Given the description of an element on the screen output the (x, y) to click on. 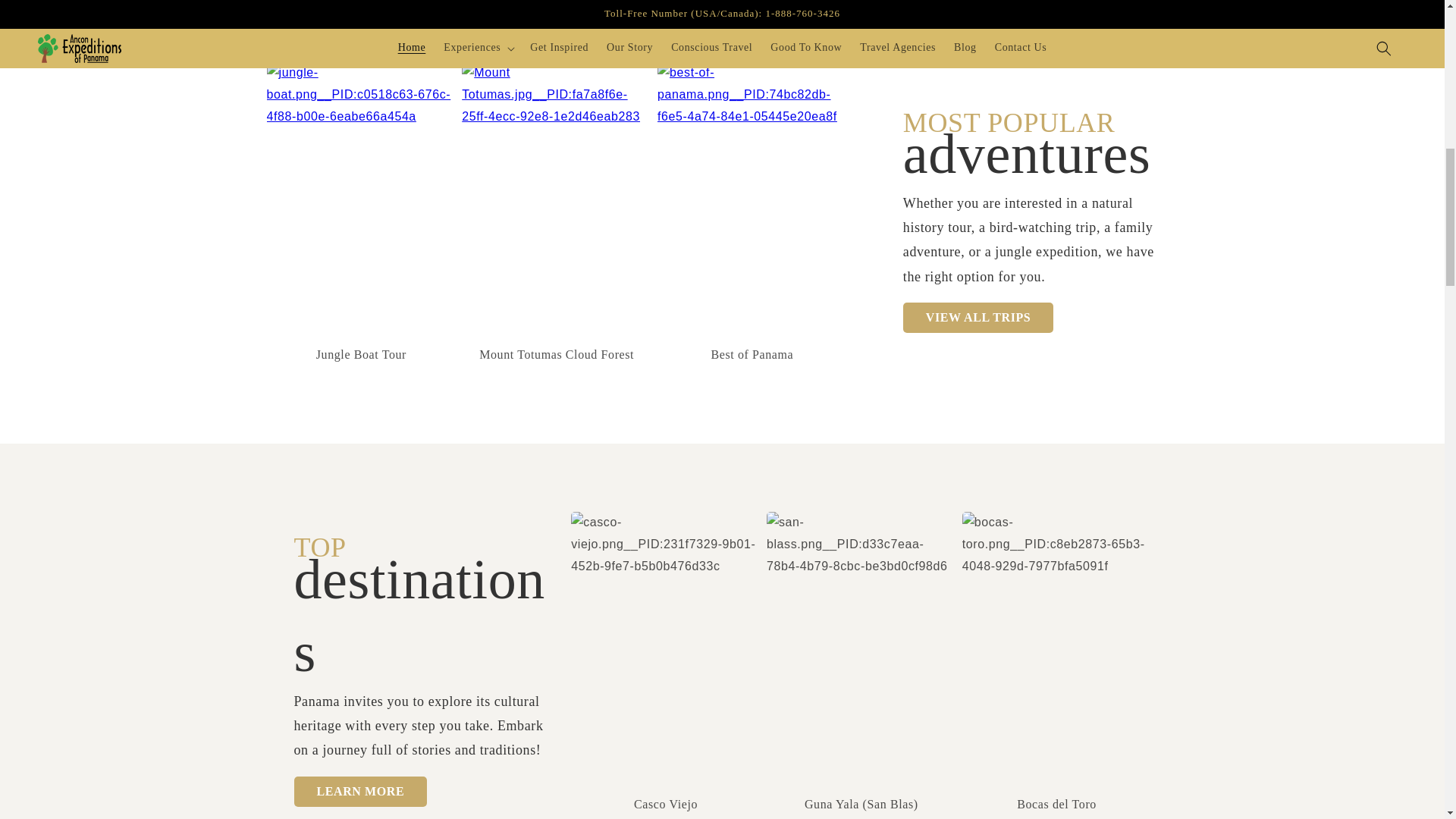
The Panama Canal Rainforest Boat Adventure (361, 94)
escapes (752, 94)
